Given the description of an element on the screen output the (x, y) to click on. 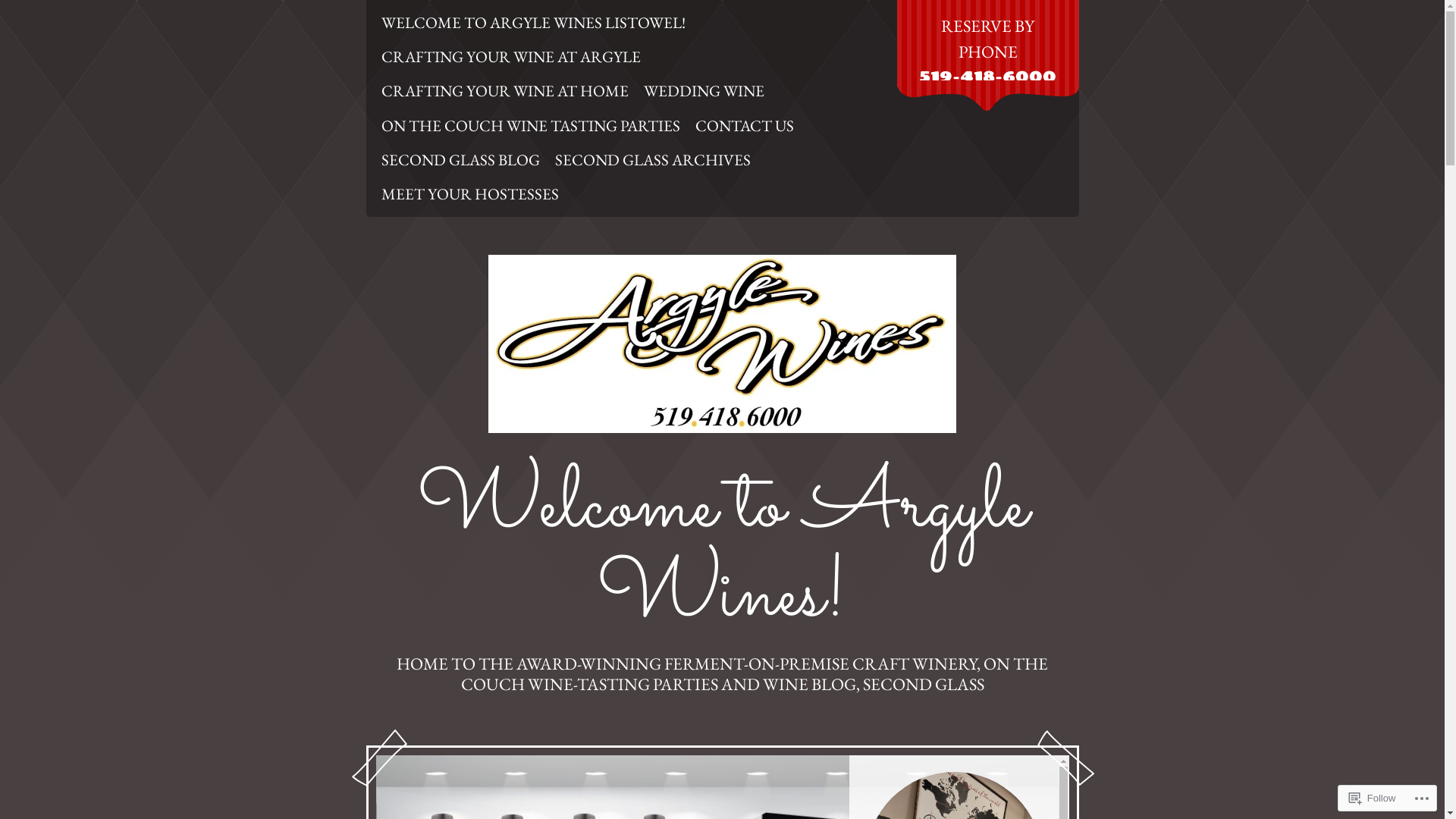
CONTACT US Element type: text (743, 125)
WELCOME TO ARGYLE WINES LISTOWEL! Element type: text (532, 22)
WEDDING WINE Element type: text (703, 90)
Follow Element type: text (1372, 797)
CRAFTING YOUR WINE AT HOME Element type: text (504, 90)
Welcome to Argyle Wines! Element type: text (722, 551)
SECOND GLASS ARCHIVES Element type: text (652, 159)
ON THE COUCH WINE TASTING PARTIES Element type: text (530, 125)
SECOND GLASS BLOG Element type: text (459, 159)
MEET YOUR HOSTESSES Element type: text (469, 193)
CRAFTING YOUR WINE AT ARGYLE Element type: text (510, 56)
